Given the description of an element on the screen output the (x, y) to click on. 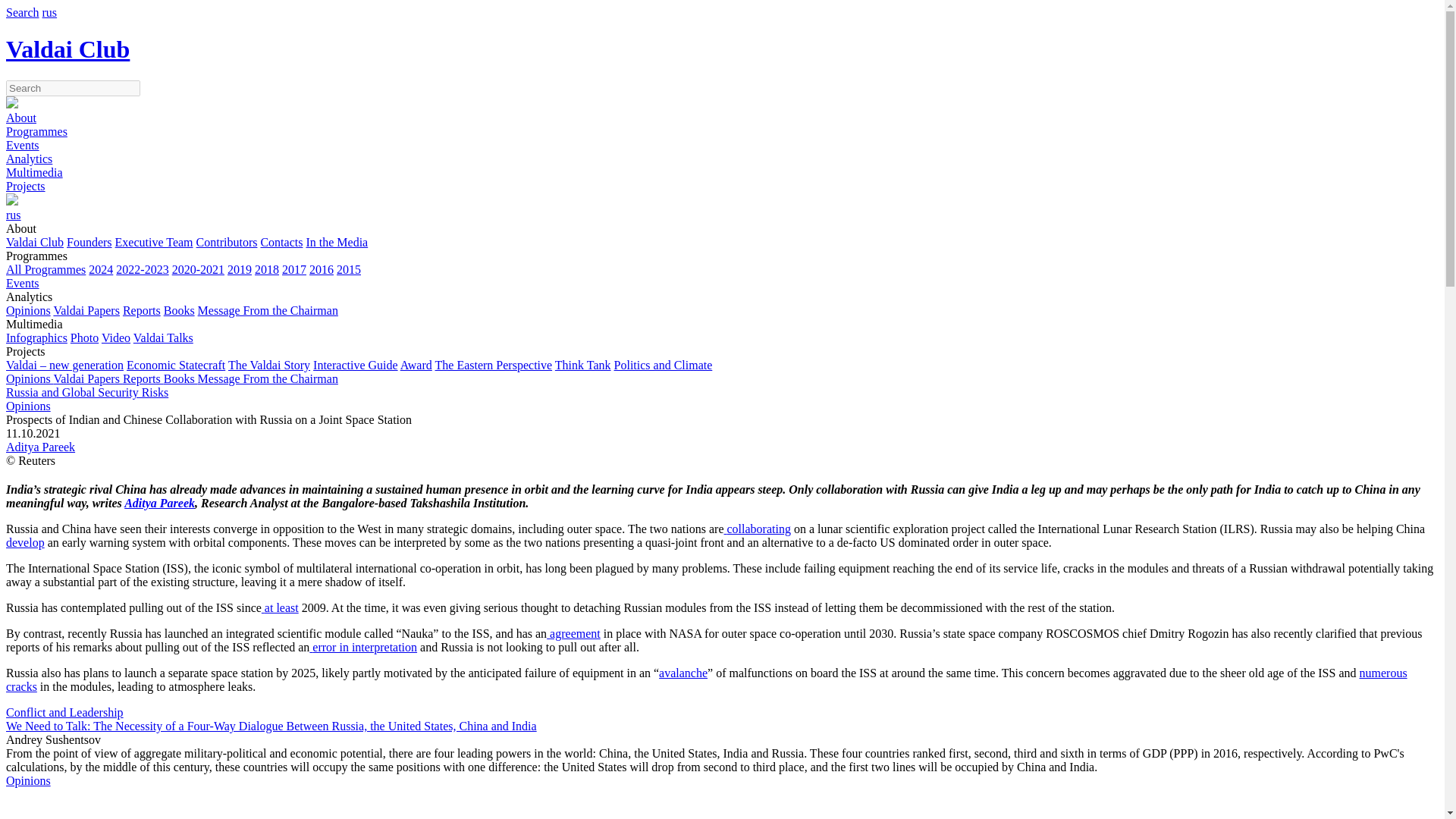
Reports (141, 309)
2022-2023 (142, 269)
Message From the Chairman (267, 309)
Executive Team (154, 241)
Books (179, 309)
Infographics (35, 337)
All Programmes (45, 269)
Contributors (226, 241)
2019 (239, 269)
Founders (89, 241)
rus (50, 11)
In the Media (336, 241)
Valdai Club (34, 241)
2020-2021 (197, 269)
2024 (100, 269)
